Given the description of an element on the screen output the (x, y) to click on. 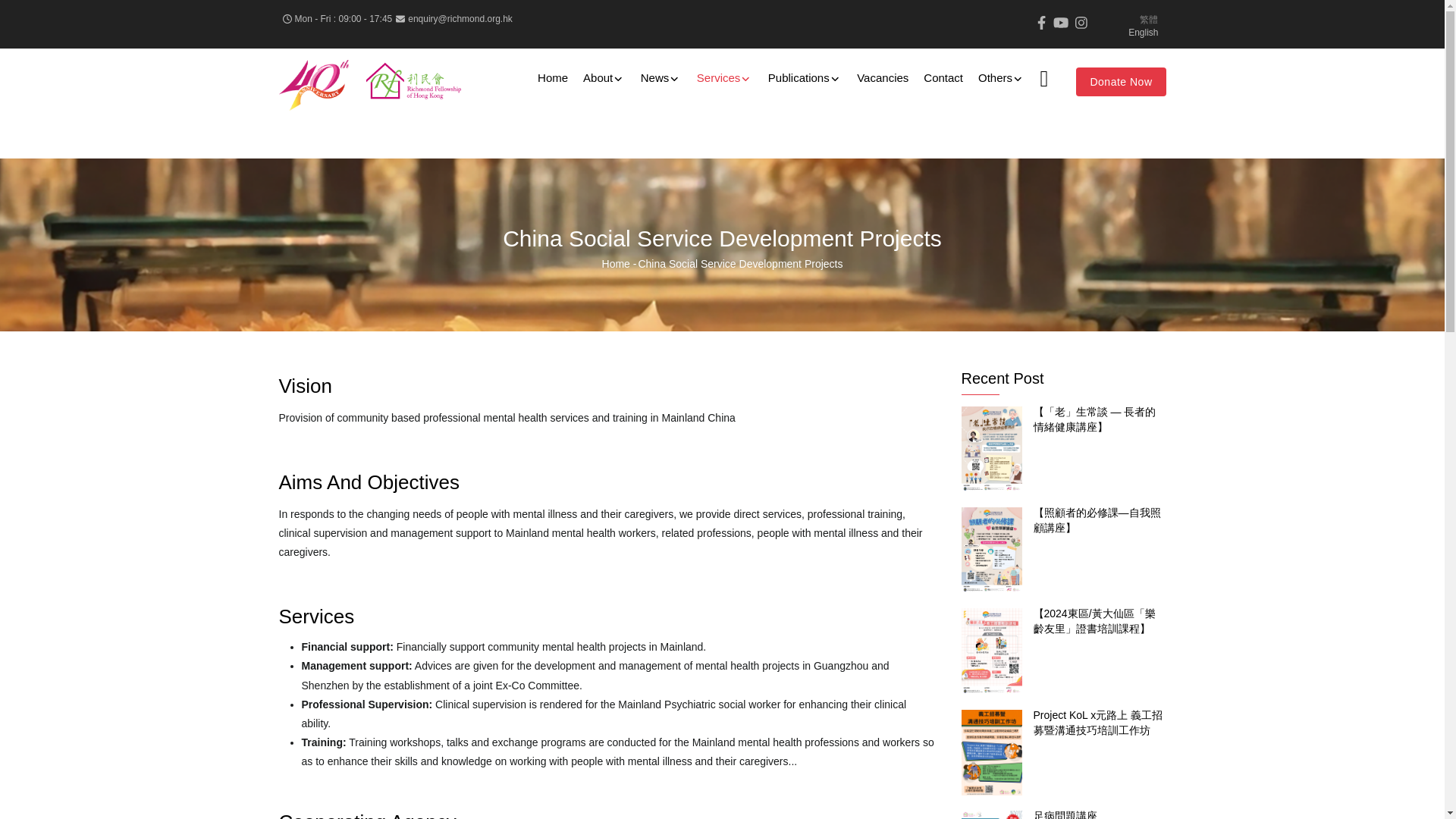
English (1142, 32)
News (660, 77)
About (604, 77)
Home (370, 84)
Services (724, 77)
Publications (804, 77)
